Given the description of an element on the screen output the (x, y) to click on. 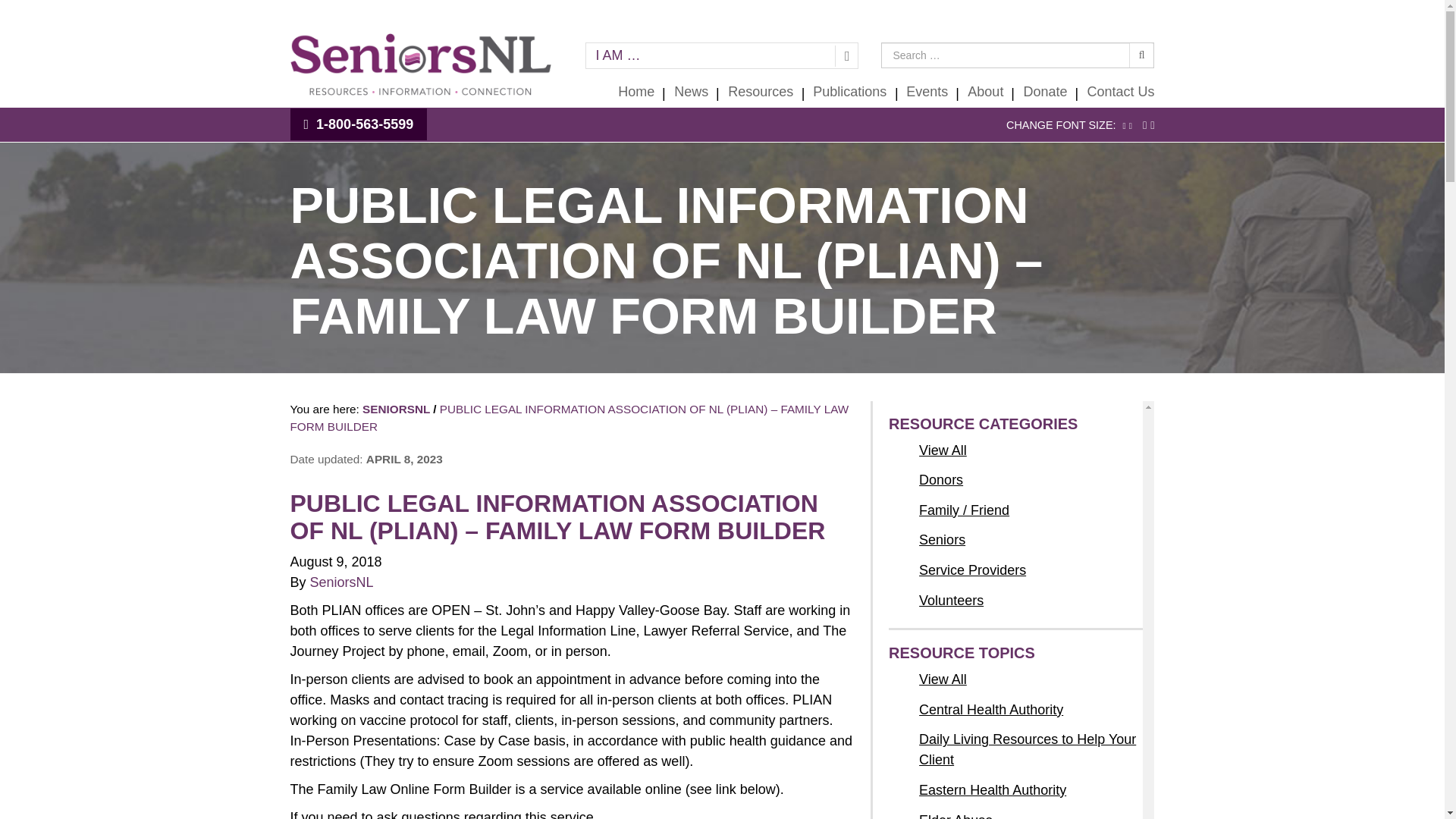
Daily Living Resources to Help Your Client (1030, 749)
Publications (849, 91)
Filter by: Donors (940, 480)
Filter by: Volunteers (951, 600)
Elder Abuse (955, 814)
Events (927, 91)
Seniors (941, 539)
Filter by: Daily Living Resources to Help Your Client (1030, 749)
Eastern Health Authority (991, 790)
Volunteers (951, 600)
